Given the description of an element on the screen output the (x, y) to click on. 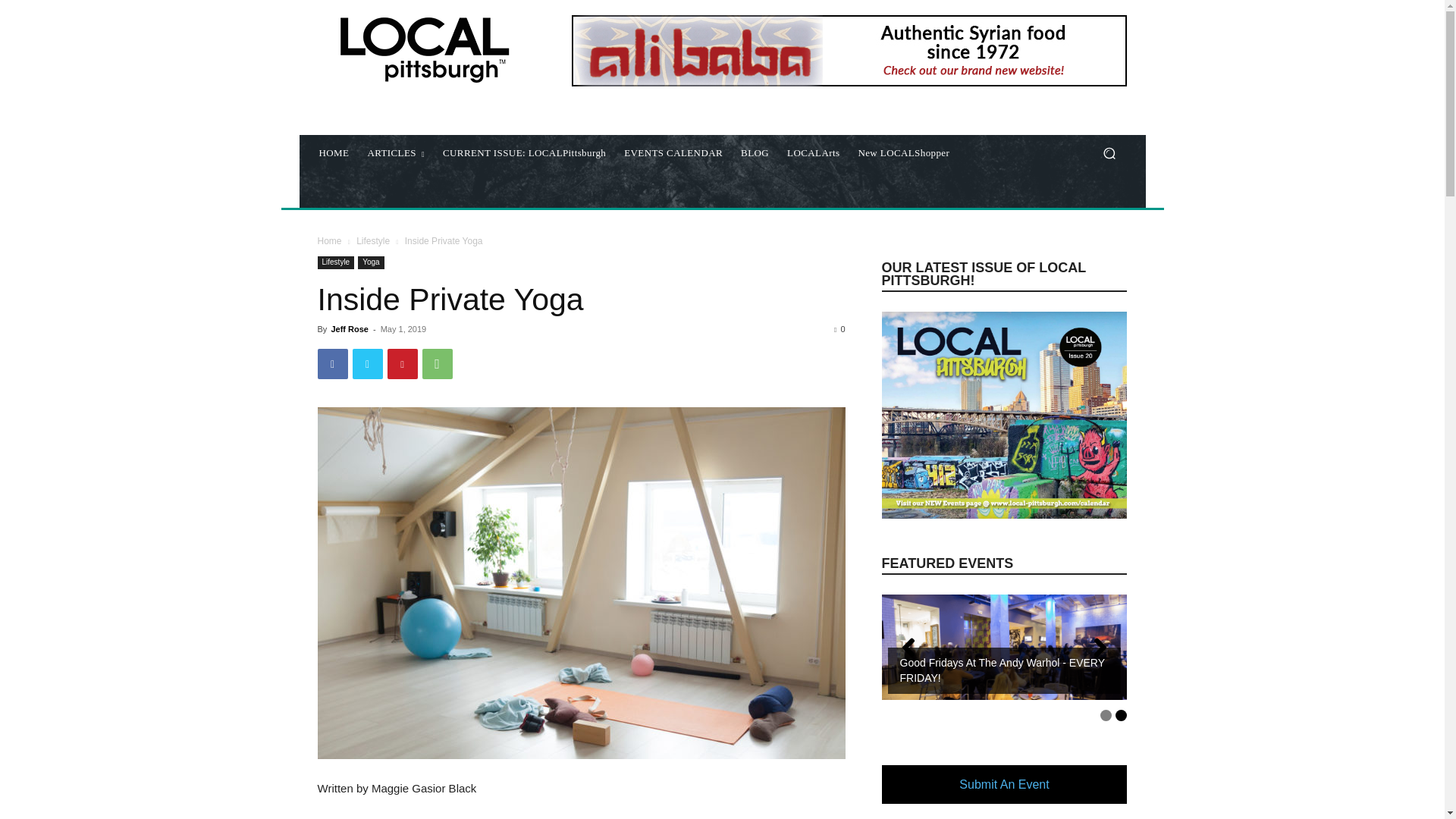
New LOCALShopper (903, 153)
WhatsApp (436, 363)
Lifestyle (373, 240)
Home (328, 240)
Jeff Rose (349, 328)
Yoga (371, 262)
0 (839, 328)
Facebook (332, 363)
Pinterest (401, 363)
BLOG (754, 153)
HOME (333, 153)
Twitter (366, 363)
View all posts in Lifestyle (373, 240)
Lifestyle (335, 262)
ARTICLES (395, 153)
